Given the description of an element on the screen output the (x, y) to click on. 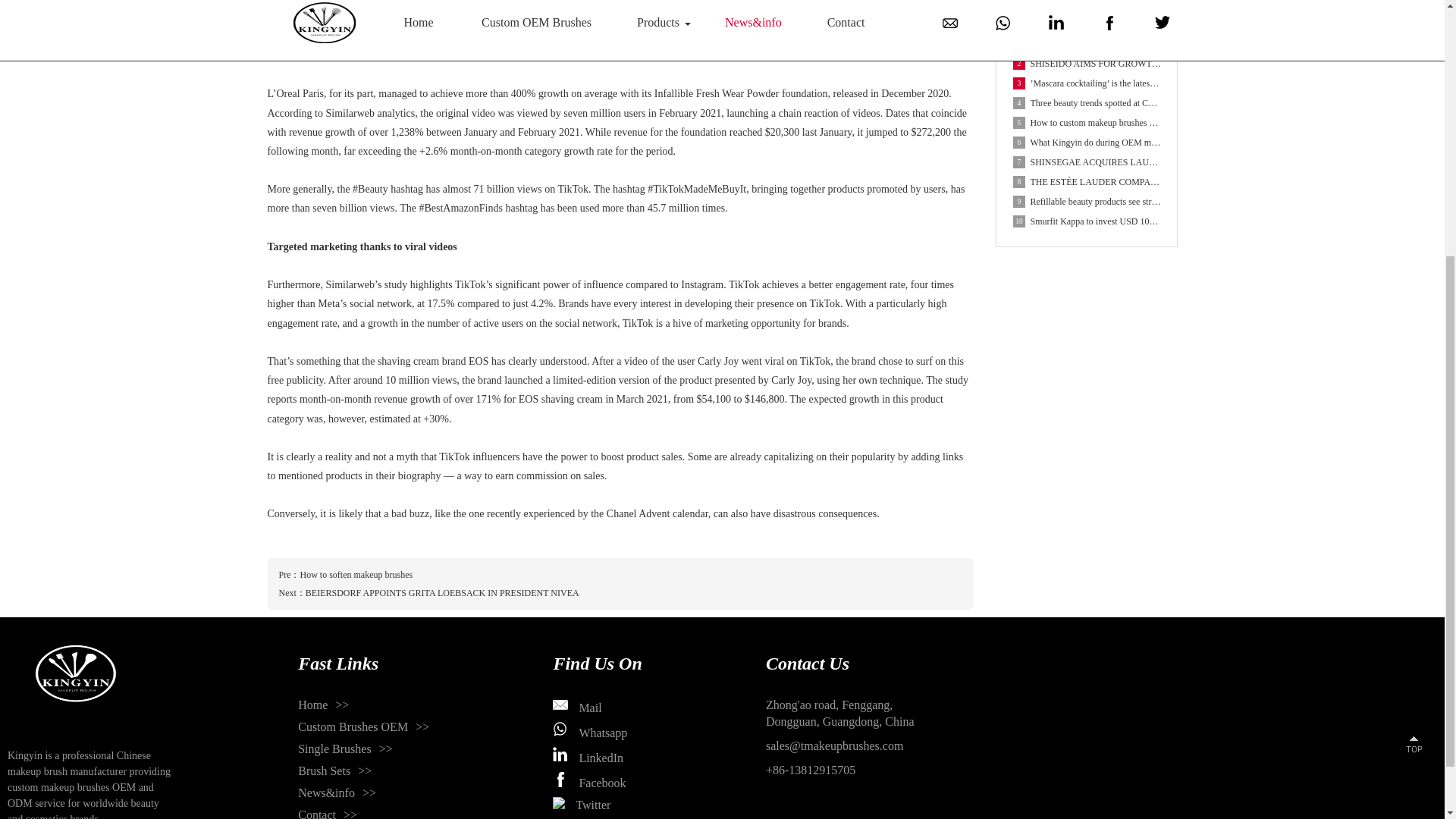
Three beauty trends spotted at Cosme Tokyo 2023 (1086, 103)
How to soften makeup brushes (356, 574)
How to custom makeup brushes and OEM makeup brushes (1086, 122)
Welcome to our booth W2L04 at China Beauty Expo (1086, 44)
6What Kingyin do during OEM makeup brushes (1086, 142)
Refillable beauty products see strong sales growth  (1086, 201)
What Kingyin do during OEM makeup brushes (1086, 142)
5How to custom makeup brushes and OEM makeup brushes (1086, 122)
2SHISEIDO AIMS FOR GROWTH IN HAINAN, CHINA AND TRAVE (1086, 63)
BEIERSDORF APPOINTS GRITA LOEBSACK IN PRESIDENT NIVEA (442, 593)
Whatsapp (590, 733)
9Refillable beauty products see strong sales growth (1086, 201)
Zhong'ao road, Fenggang, Dongguan, Guangdong, China (839, 713)
Mail (577, 707)
10Smurfit Kappa to invest USD 100 million to drive do (1086, 220)
